Given the description of an element on the screen output the (x, y) to click on. 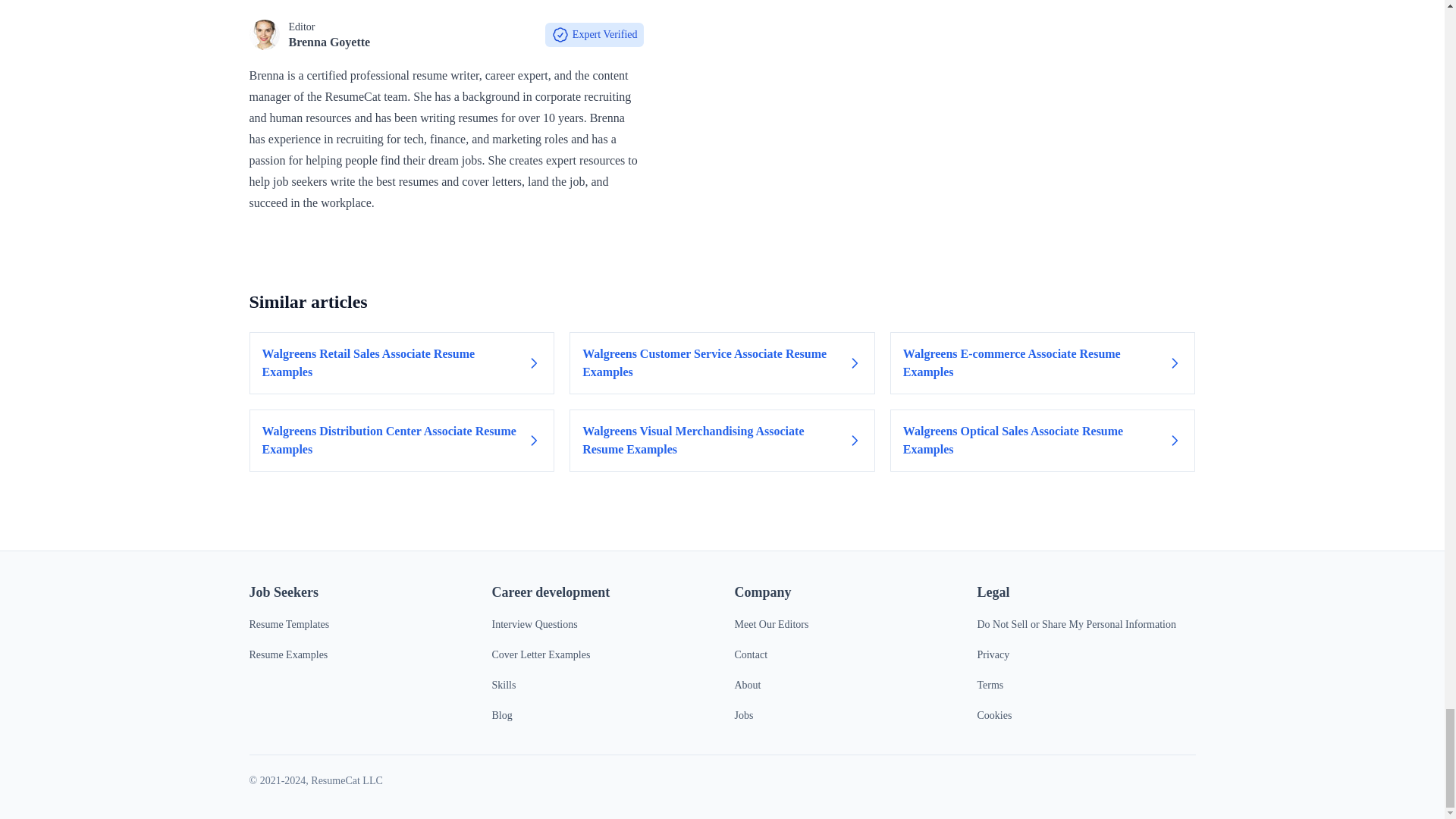
Walgreens Retail Sales Associate Resume Examples (401, 362)
Walgreens Customer Service Associate Resume Examples (722, 362)
Resume Templates (288, 624)
About (746, 685)
Contact (750, 654)
Walgreens Distribution Center Associate Resume Examples (401, 440)
Resume Examples (287, 654)
Walgreens Optical Sales Associate Resume Examples (1042, 440)
Walgreens E-commerce Associate Resume Examples (1042, 362)
Do Not Sell or Share My Personal Information (1075, 624)
